Given the description of an element on the screen output the (x, y) to click on. 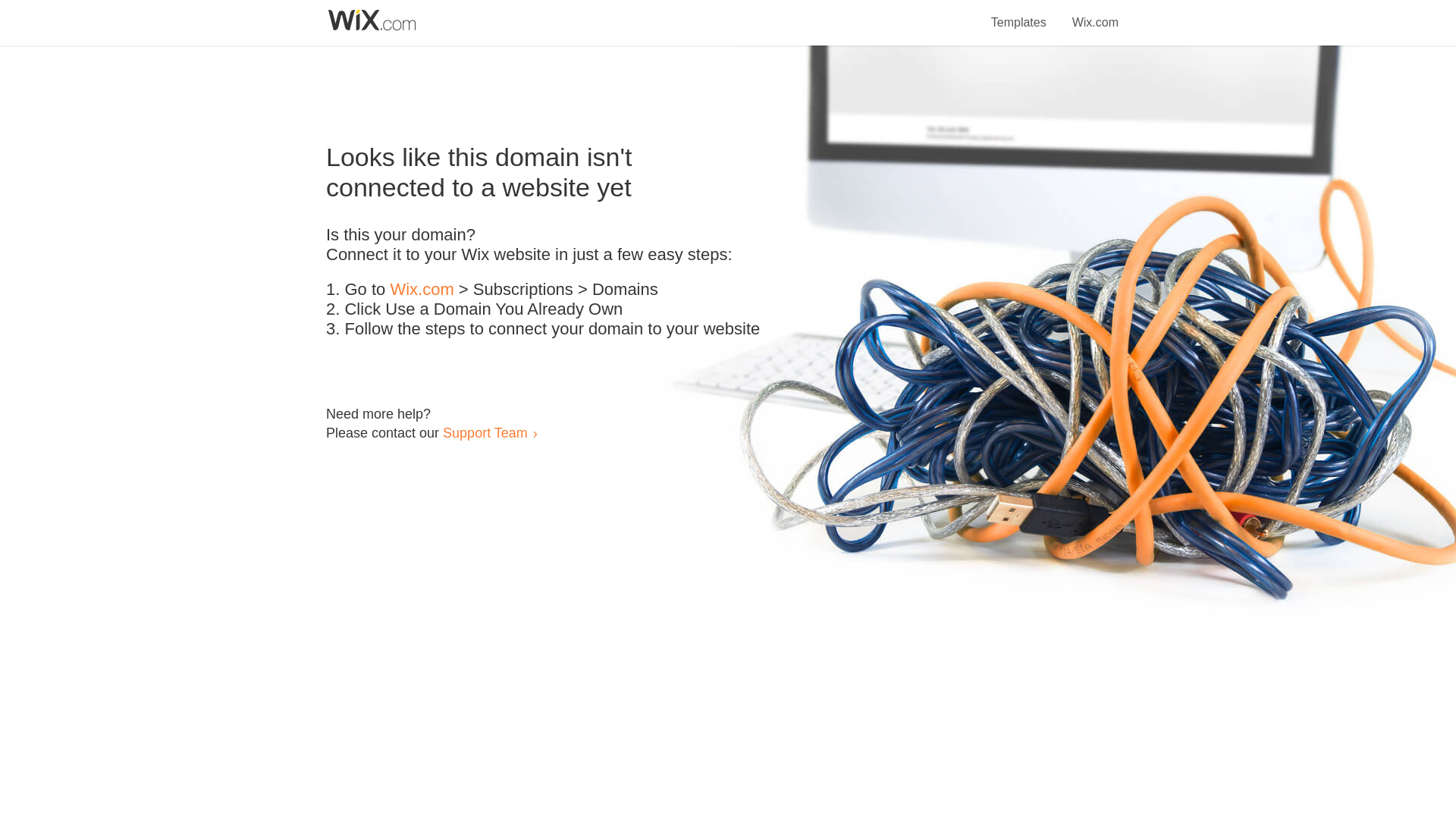
Wix.com (1095, 14)
Wix.com (421, 289)
Templates (1018, 14)
Support Team (484, 432)
